Given the description of an element on the screen output the (x, y) to click on. 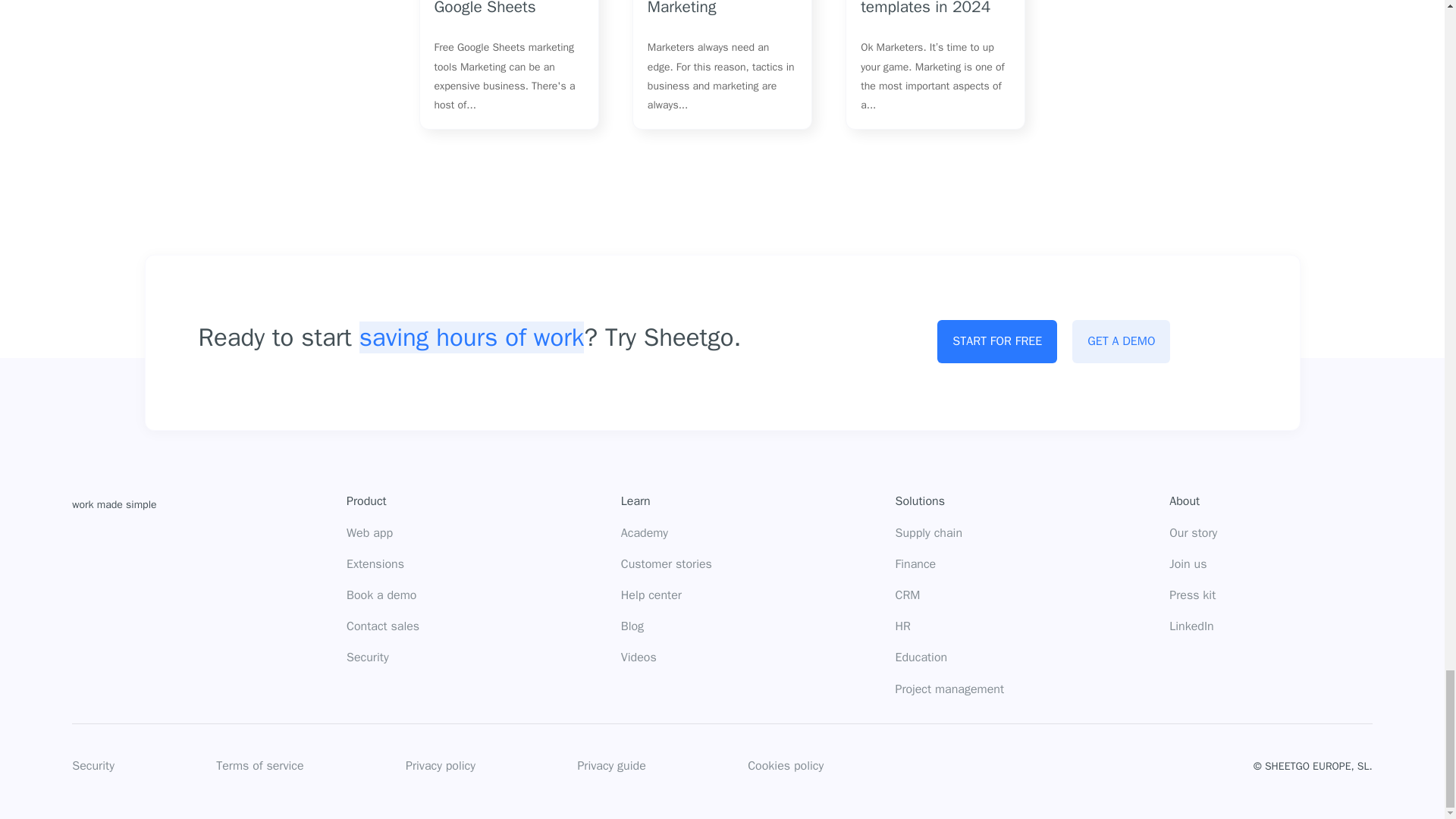
START FOR FREE (997, 341)
Security (367, 657)
Top 5 Google Sheets add-ons for Marketing (720, 8)
Top 10 free marketing tools for Google Sheets (498, 8)
GET A DEMO (1120, 341)
Extensions (375, 564)
Top 6 free Marketing spreadsheet templates in 2024 (933, 8)
Contact sales (382, 626)
Book a demo (381, 595)
Customer stories (666, 564)
Academy (644, 533)
Web app (369, 533)
